Given the description of an element on the screen output the (x, y) to click on. 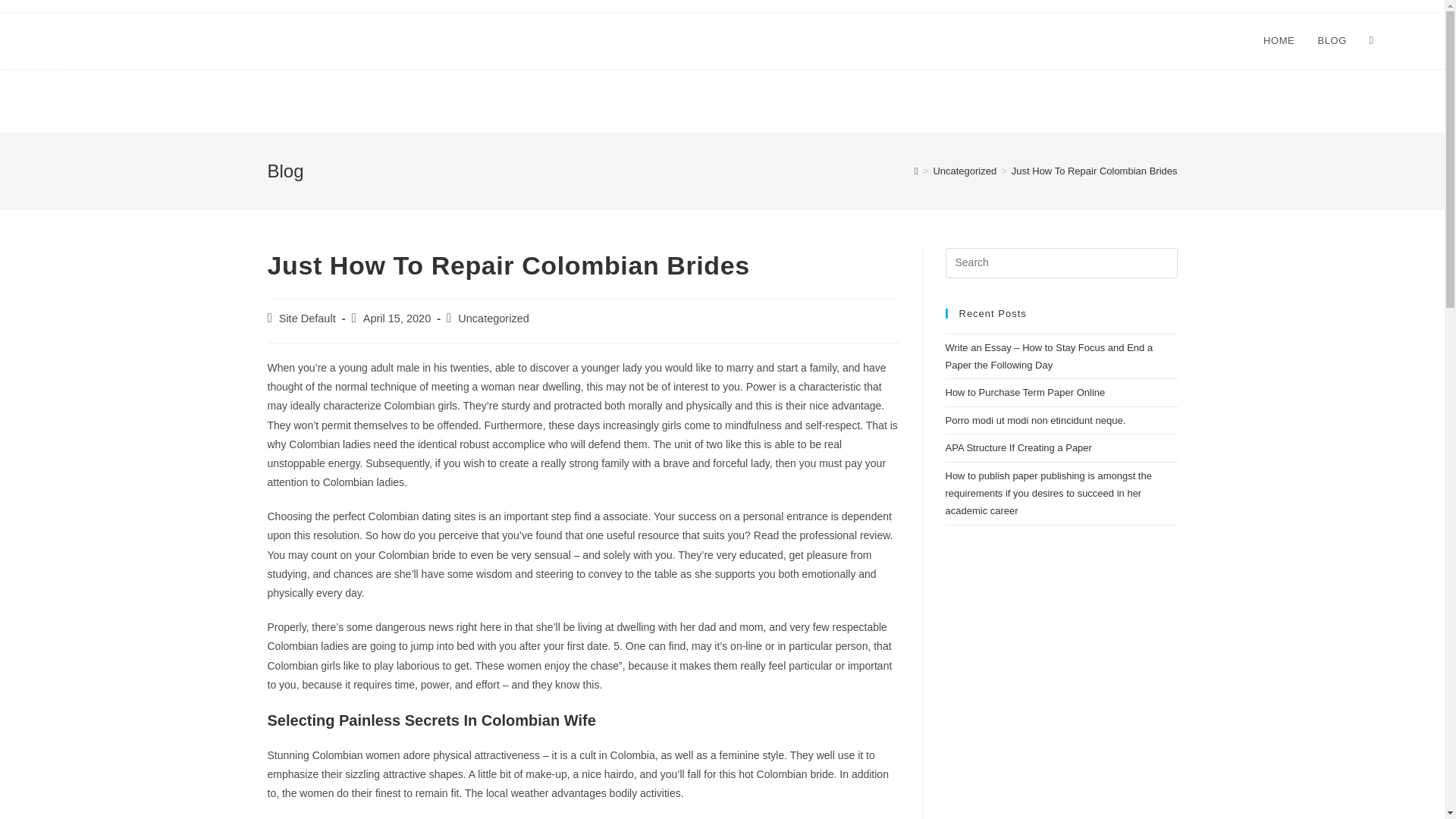
Just How To Repair Colombian Brides (1094, 170)
APA Structure If Creating a Paper (1017, 447)
How to Purchase Term Paper Online (1024, 392)
HOME (1279, 40)
Posts by Site Default (307, 318)
BLOG (1332, 40)
Site Default (307, 318)
Porro modi ut modi non etincidunt neque. (1034, 419)
Uncategorized (964, 170)
Uncategorized (493, 318)
